Given the description of an element on the screen output the (x, y) to click on. 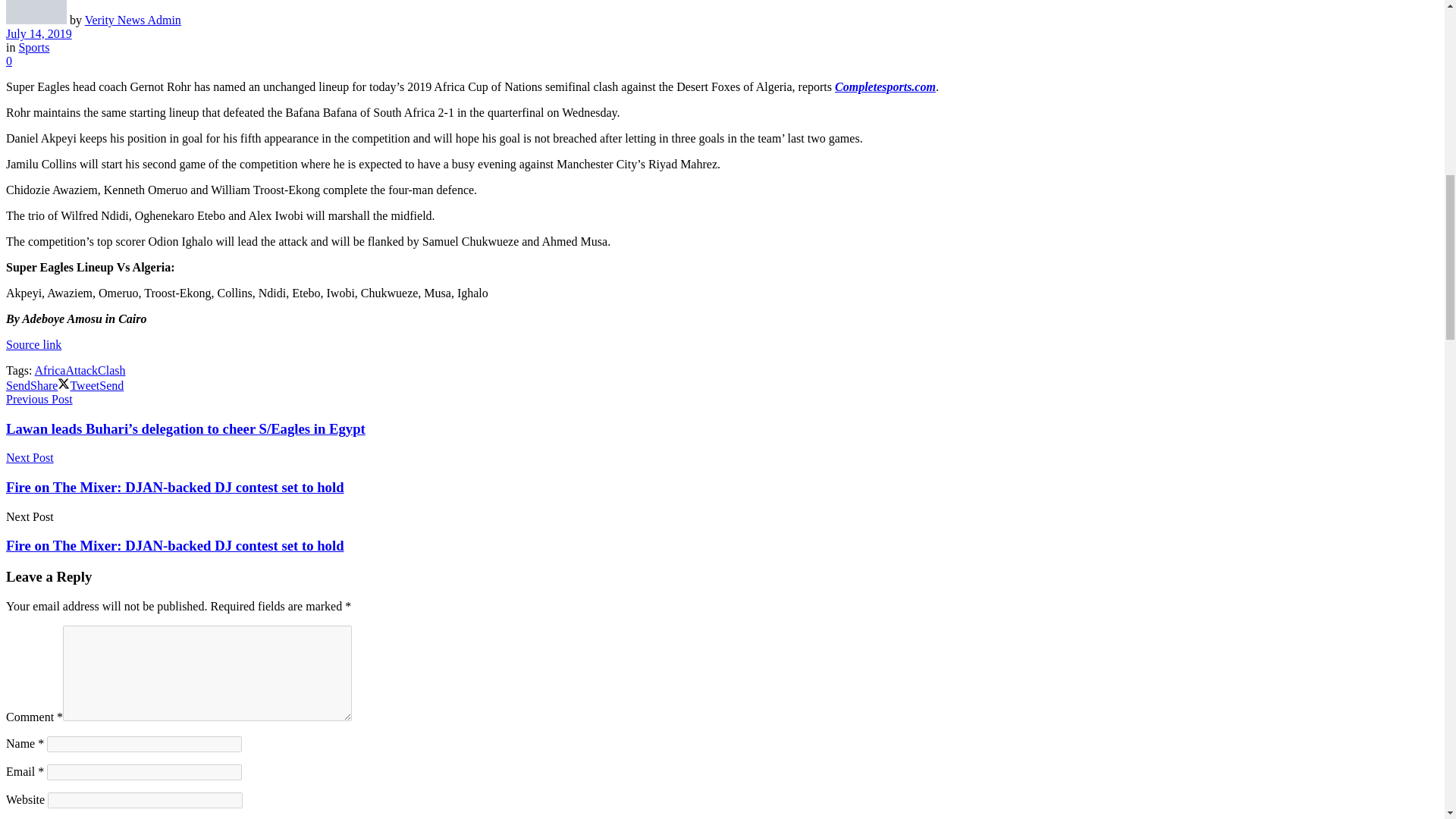
Sports (33, 47)
Africa (49, 369)
Verity News Admin (132, 19)
July 14, 2019 (38, 33)
Completesports.com (885, 86)
Source link (33, 344)
